Given the description of an element on the screen output the (x, y) to click on. 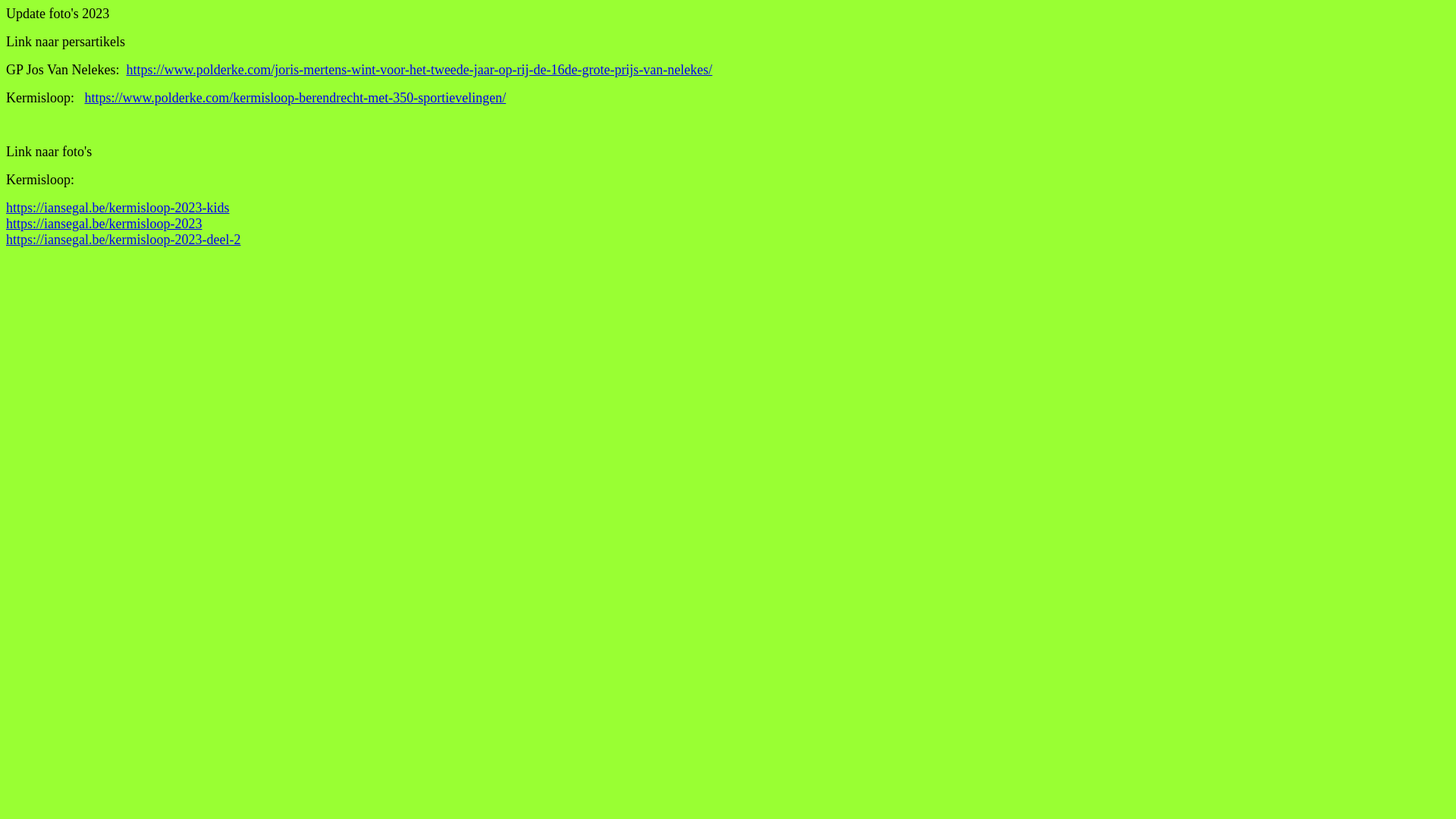
https://iansegal.be/kermisloop-2023 Element type: text (103, 223)
https://iansegal.be/kermisloop-2023-deel-2 Element type: text (123, 239)
https://iansegal.be/kermisloop-2023-kids Element type: text (117, 207)
